Given the description of an element on the screen output the (x, y) to click on. 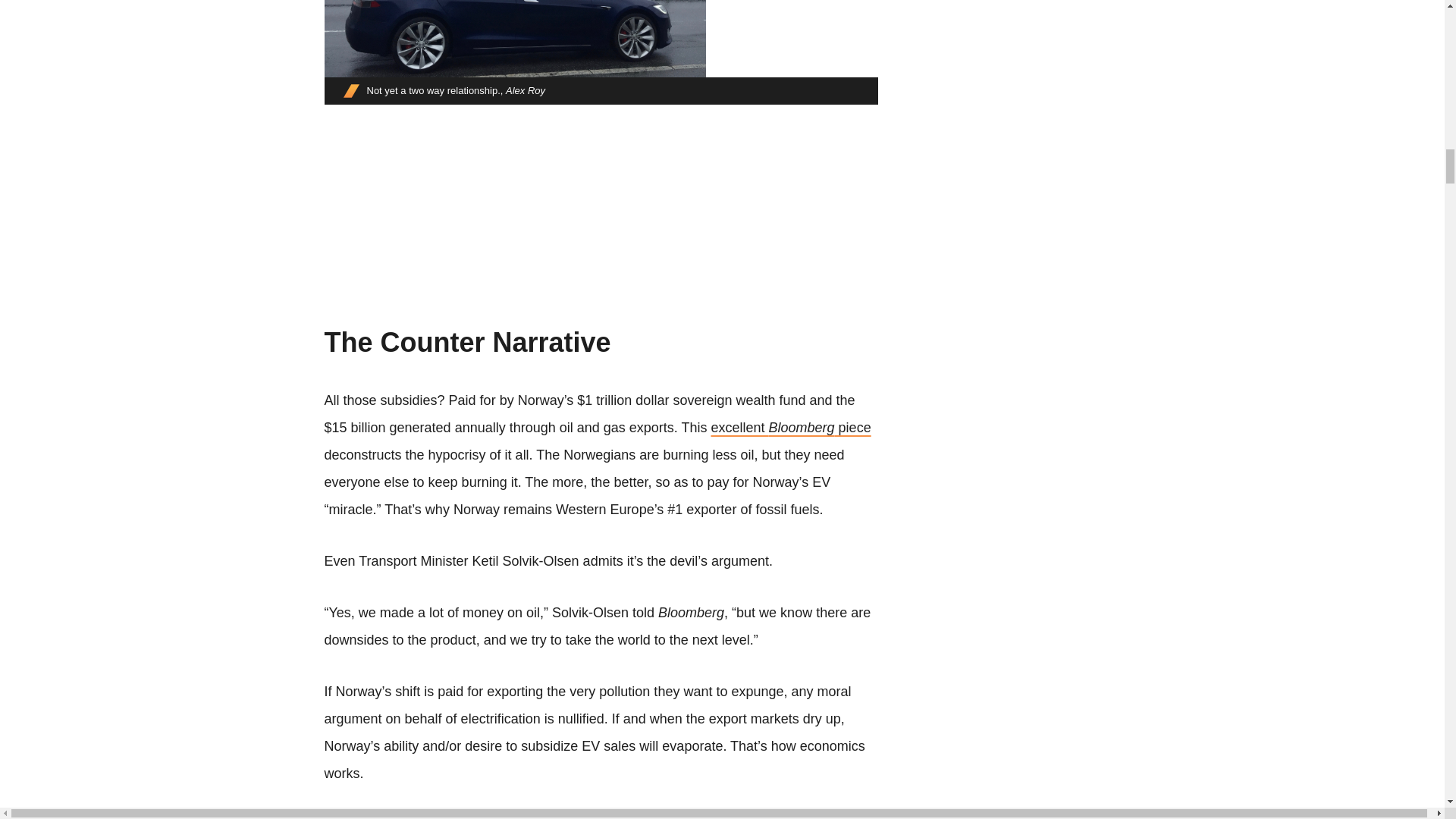
3rd party ad content (600, 222)
